Given the description of an element on the screen output the (x, y) to click on. 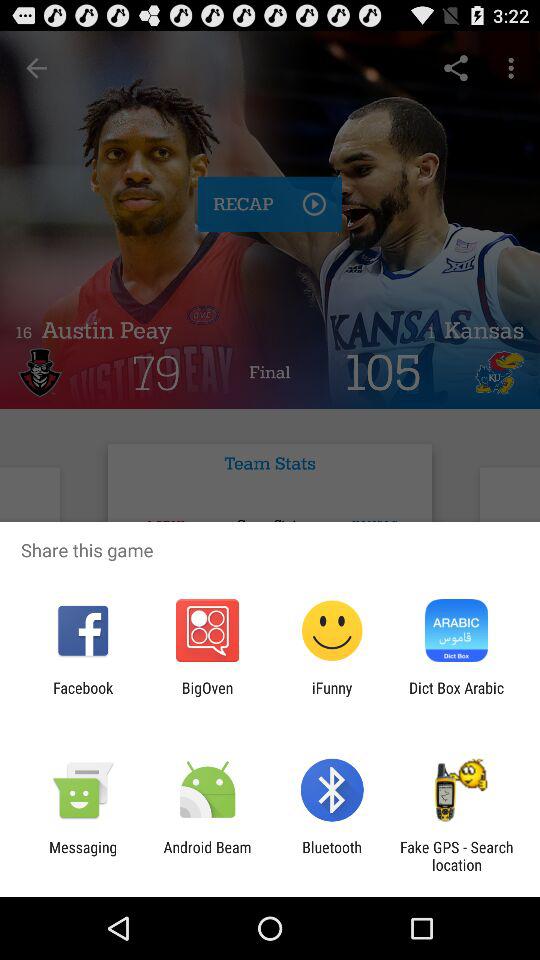
choose the messaging (83, 856)
